Given the description of an element on the screen output the (x, y) to click on. 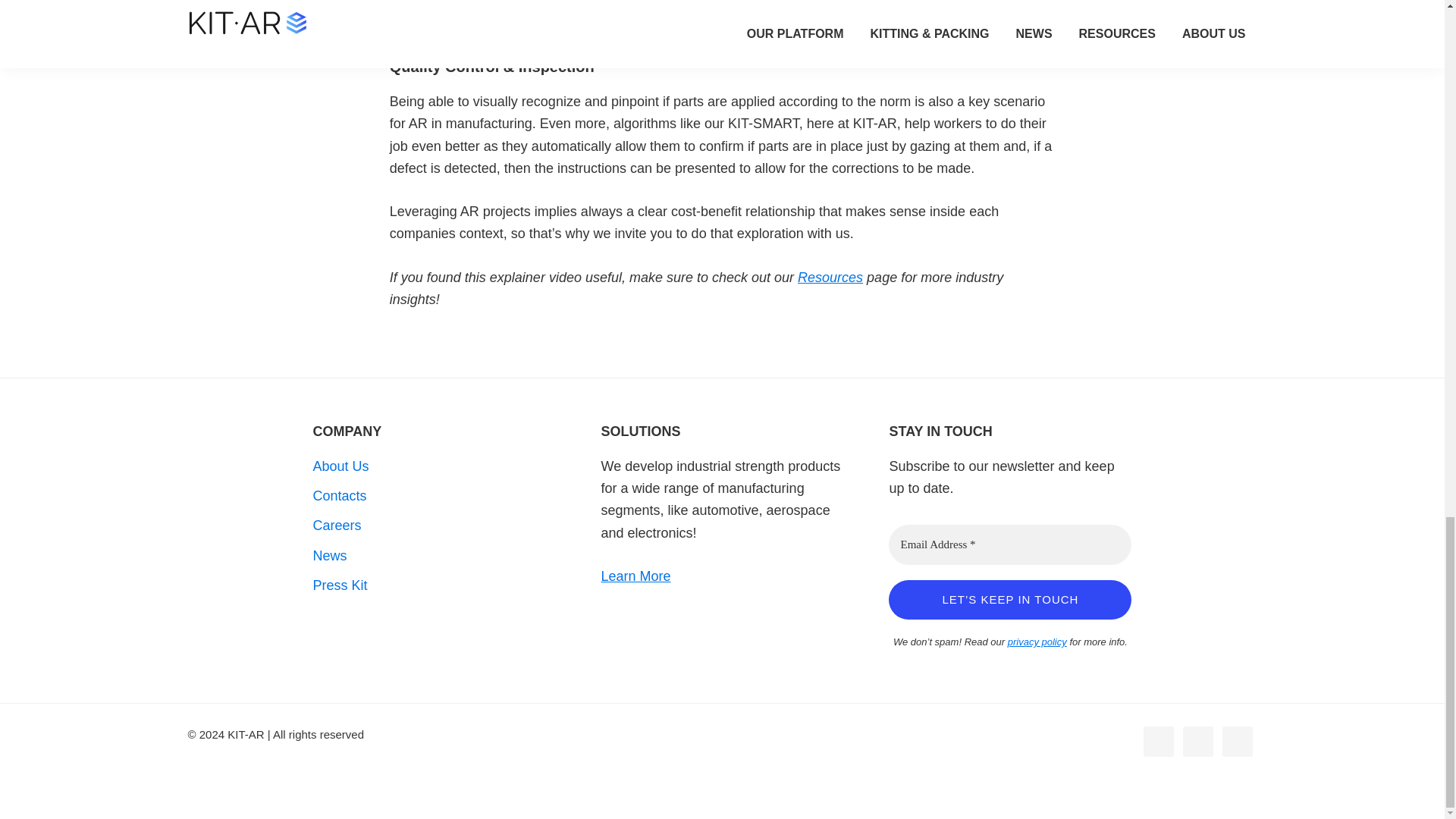
Email Address (1009, 544)
privacy policy (1037, 641)
News (329, 555)
Learn More (634, 575)
Careers (337, 525)
Press Kit (339, 585)
Contacts (339, 495)
Resources (830, 277)
About Us (340, 466)
